Given the description of an element on the screen output the (x, y) to click on. 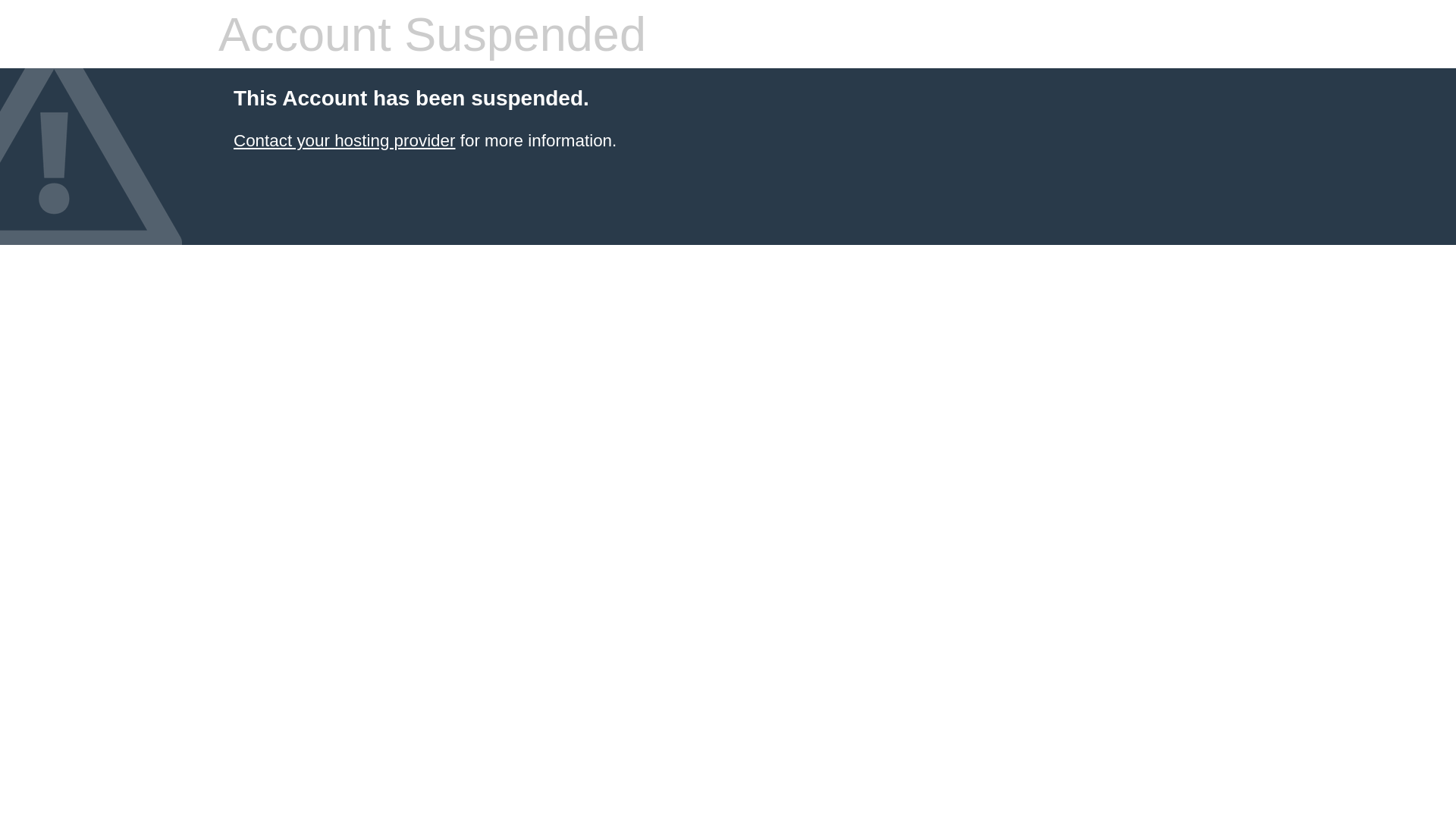
Contact your hosting provider Element type: text (344, 140)
